Given the description of an element on the screen output the (x, y) to click on. 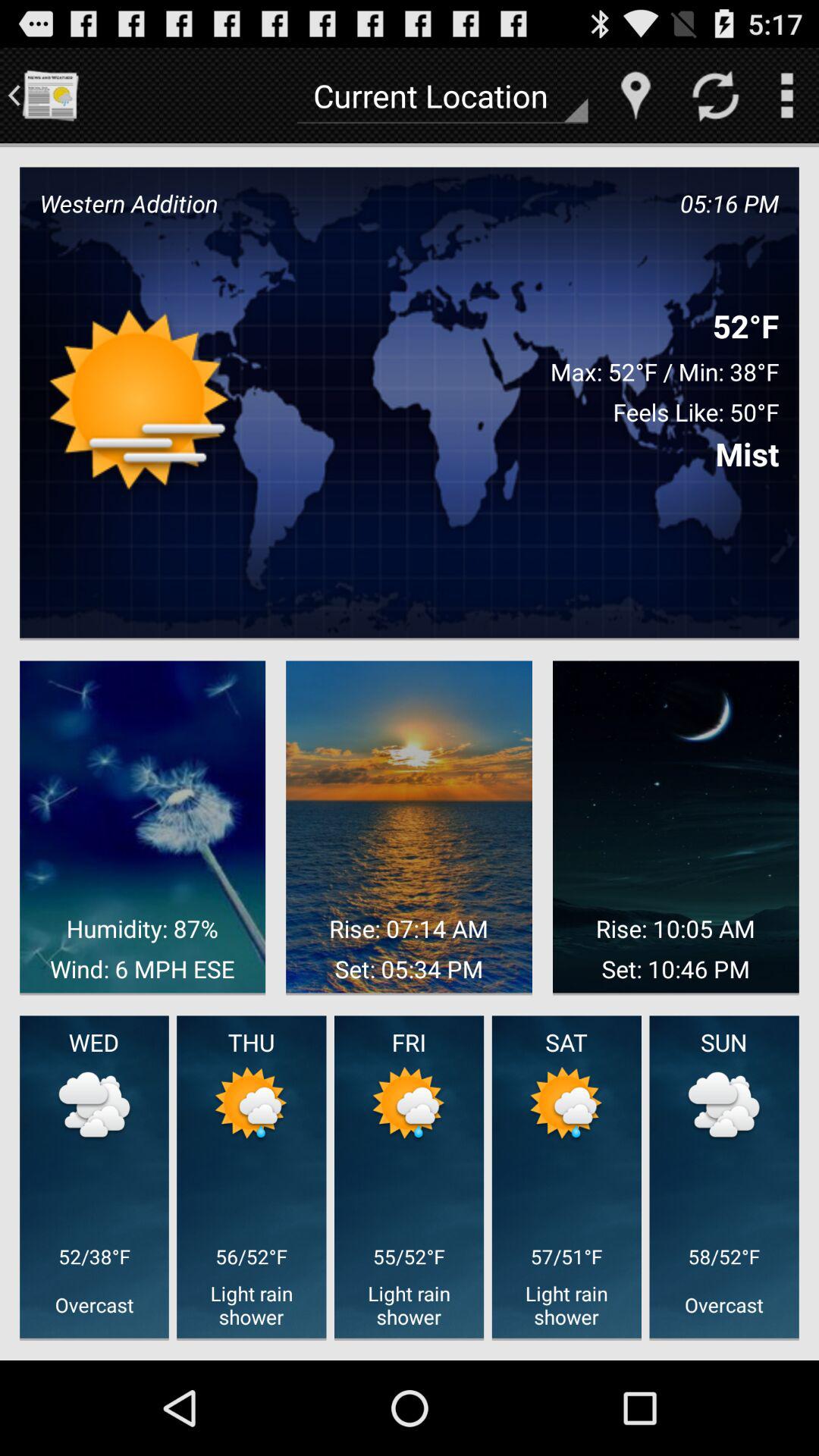
location (635, 95)
